Given the description of an element on the screen output the (x, y) to click on. 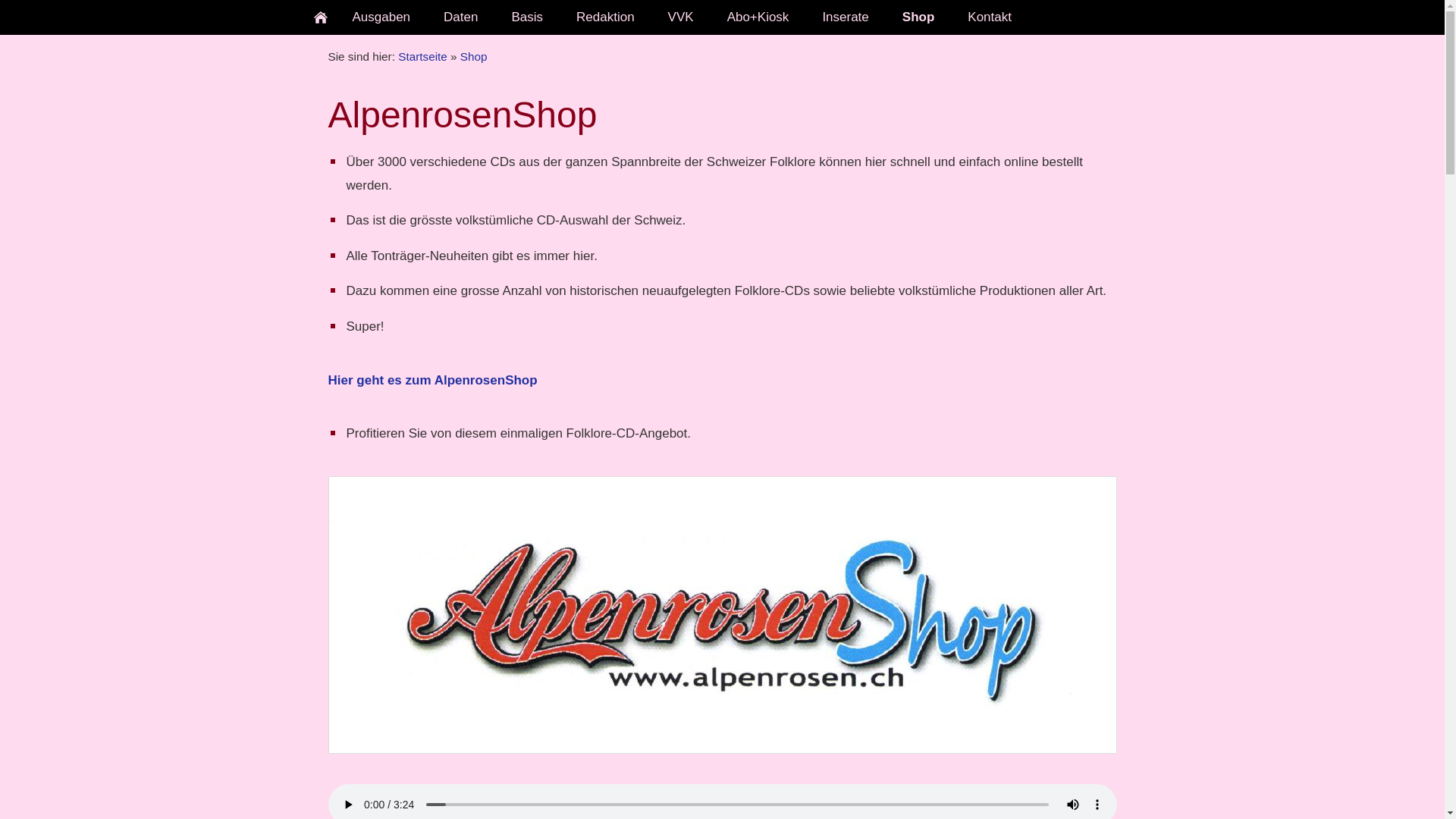
Ausgaben Element type: text (380, 17)
Basis Element type: text (526, 17)
Abo+Kiosk Element type: text (758, 17)
Hier geht es zum AlpenrosenShop Element type: text (431, 380)
Shop Element type: text (473, 56)
Inserate Element type: text (844, 17)
Startseite Element type: text (422, 56)
VVK Element type: text (680, 17)
Kontakt Element type: text (989, 17)
Daten Element type: text (460, 17)
Redaktion Element type: text (605, 17)
Shop Element type: text (918, 17)
